Given the description of an element on the screen output the (x, y) to click on. 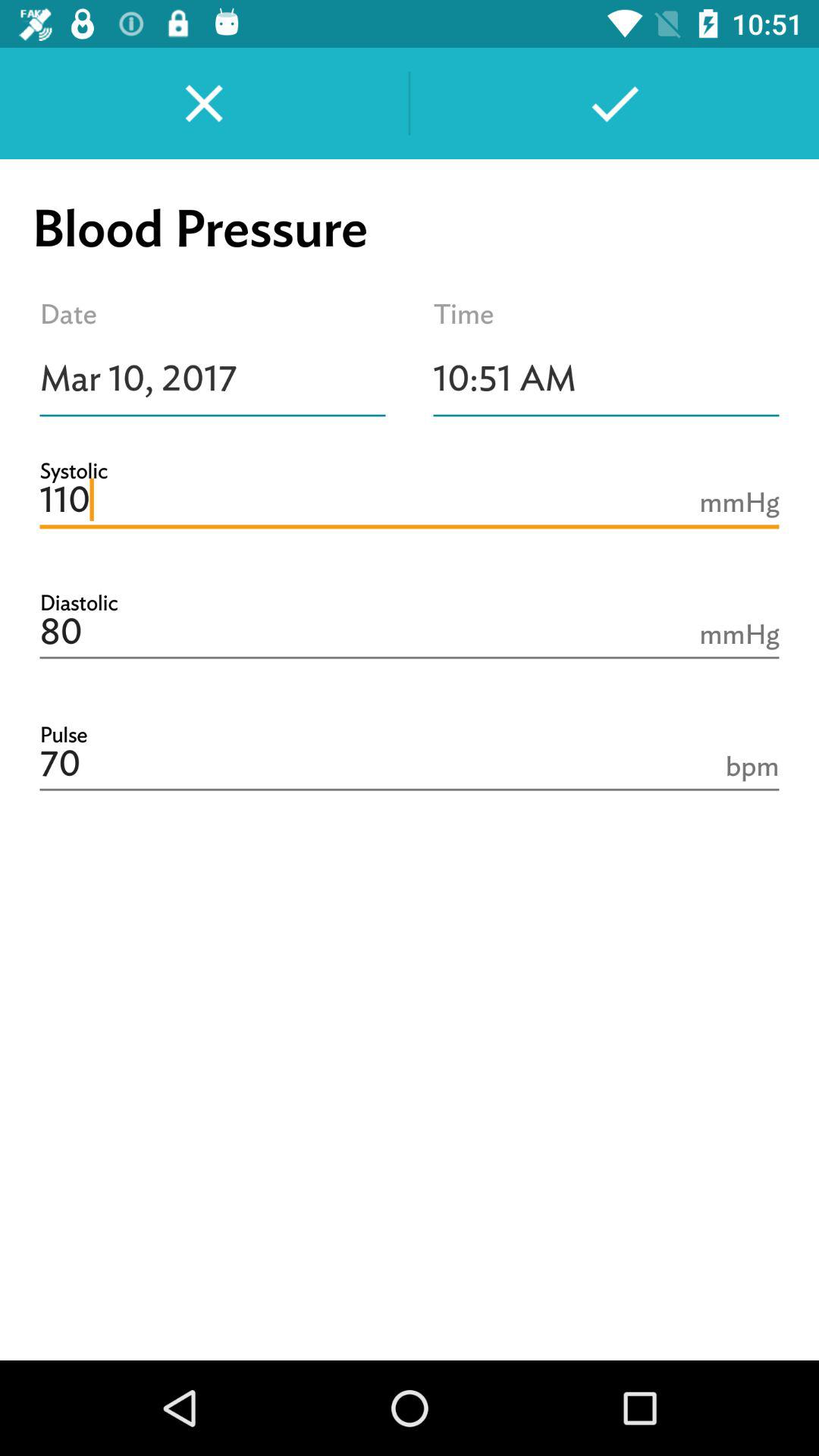
turn off item below the 110 item (409, 632)
